Given the description of an element on the screen output the (x, y) to click on. 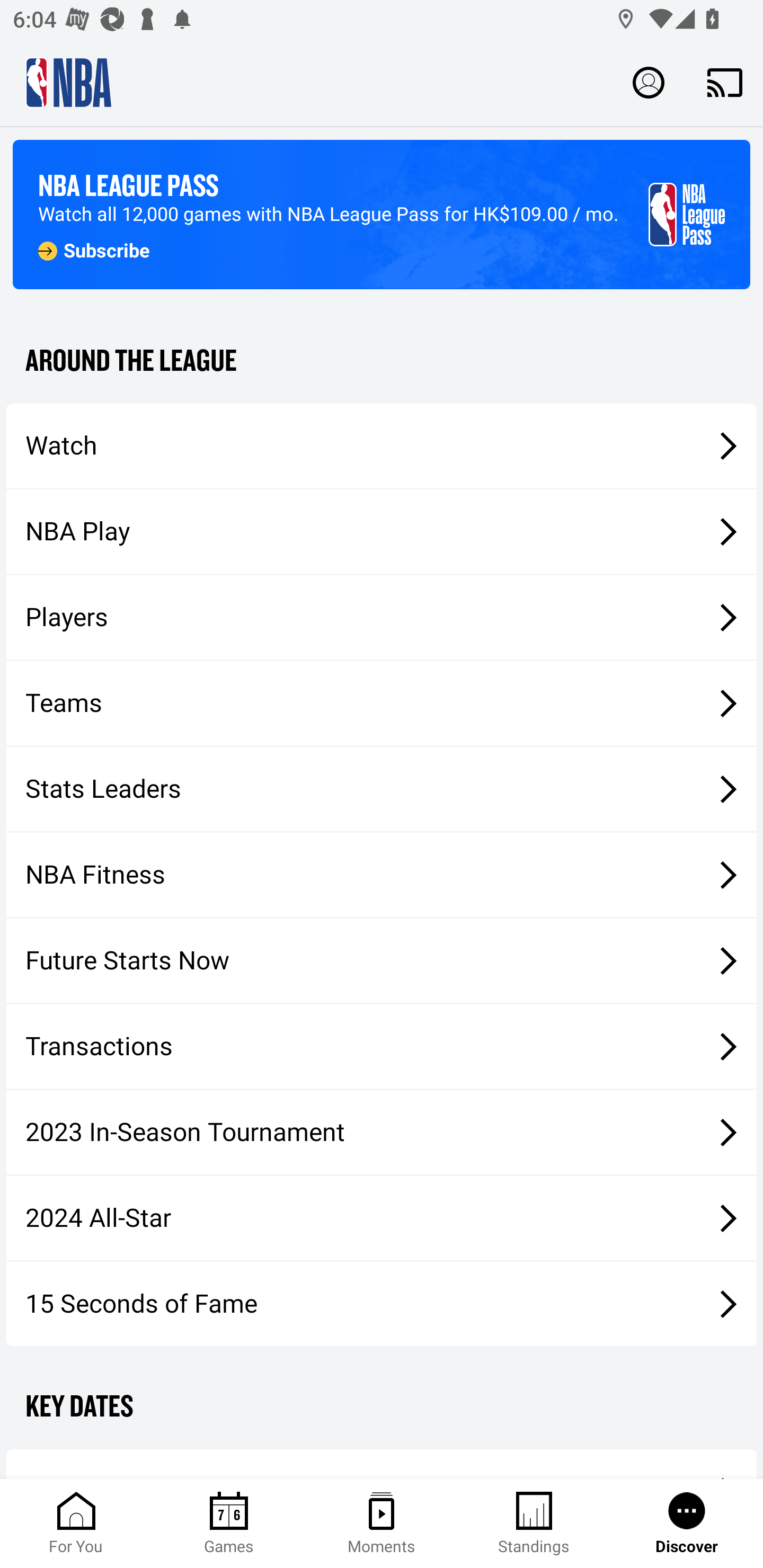
Cast. Disconnected (724, 82)
Profile (648, 81)
Watch (381, 444)
NBA Play (381, 531)
Players (381, 617)
Teams (381, 702)
Stats Leaders (381, 788)
NBA Fitness (381, 874)
Future Starts Now (381, 960)
Transactions (381, 1046)
2023 In-Season Tournament (381, 1131)
2024 All-Star (381, 1218)
15 Seconds of Fame (381, 1303)
For You (76, 1523)
Games (228, 1523)
Moments (381, 1523)
Standings (533, 1523)
